Given the description of an element on the screen output the (x, y) to click on. 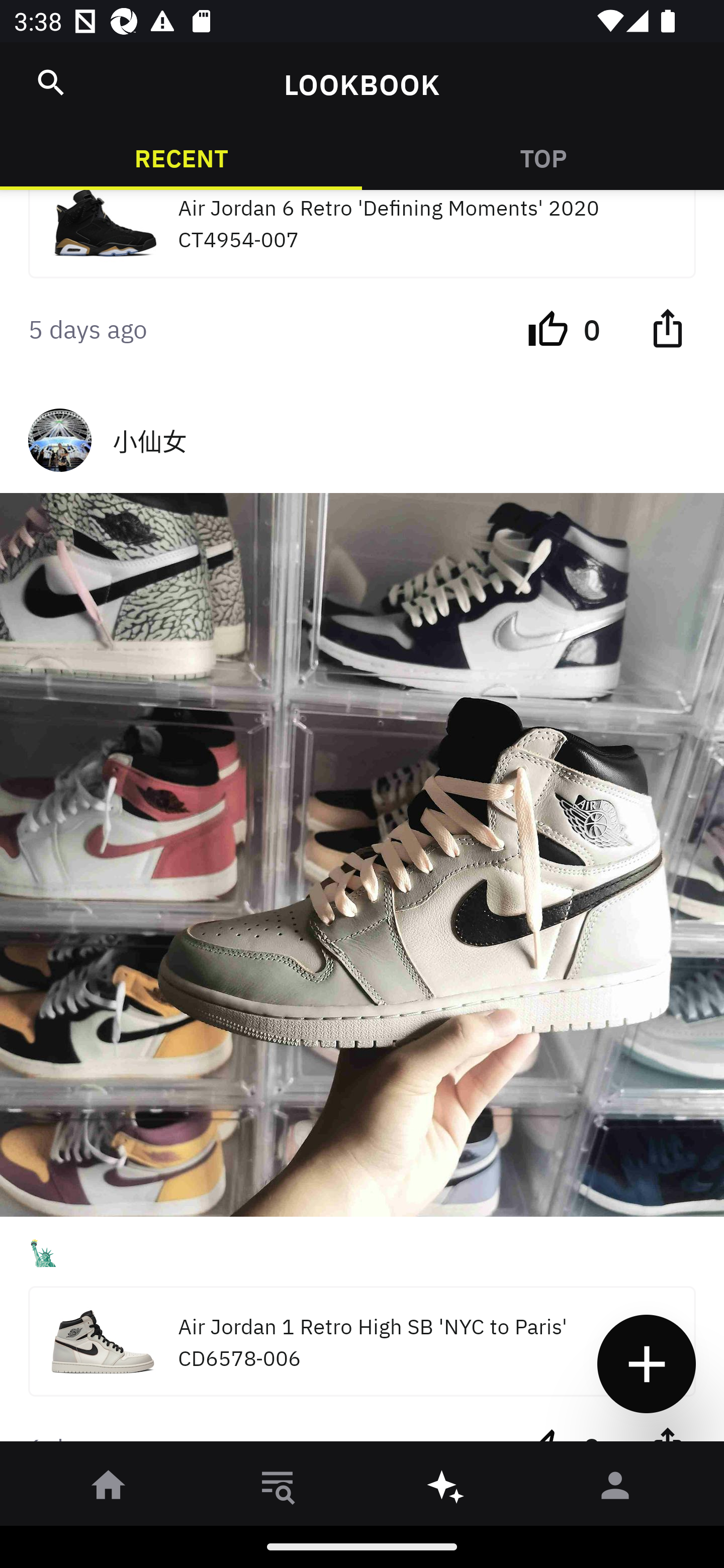
 (51, 82)
RECENT (181, 156)
TOP (543, 156)
󰔔 (547, 327)
 (667, 327)
🗽 (362, 1250)
󰋜 (108, 1488)
󱎸 (277, 1488)
󰫢 (446, 1488)
󰀄 (615, 1488)
